Given the description of an element on the screen output the (x, y) to click on. 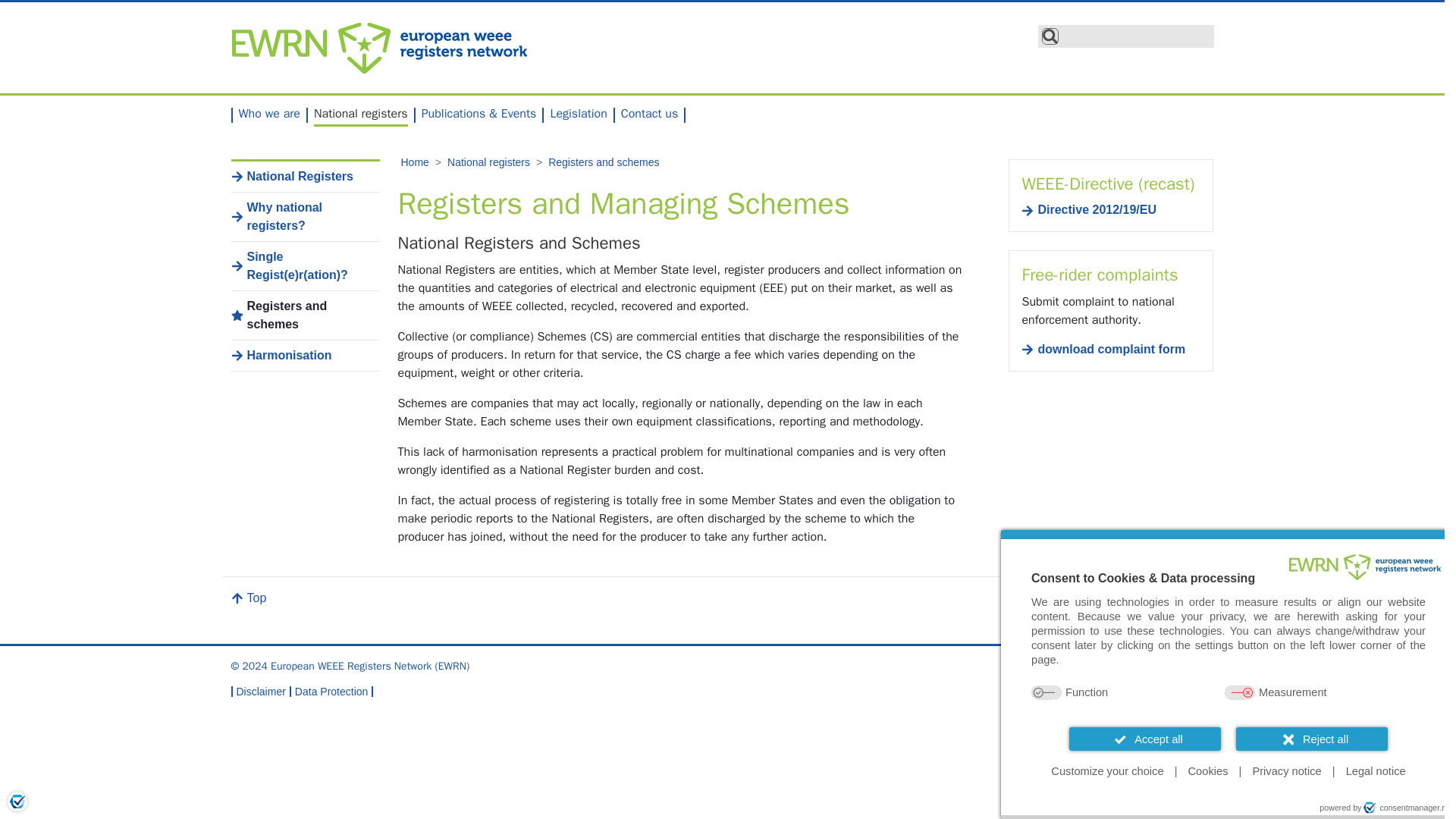
Home (414, 162)
Legislation (578, 113)
Contact us (649, 113)
Who we are (268, 113)
Purpose (1227, 693)
National registers (360, 116)
complaint form (1110, 349)
National Registers (304, 176)
Harmonisation (304, 355)
Why national registers? (304, 217)
